Given the description of an element on the screen output the (x, y) to click on. 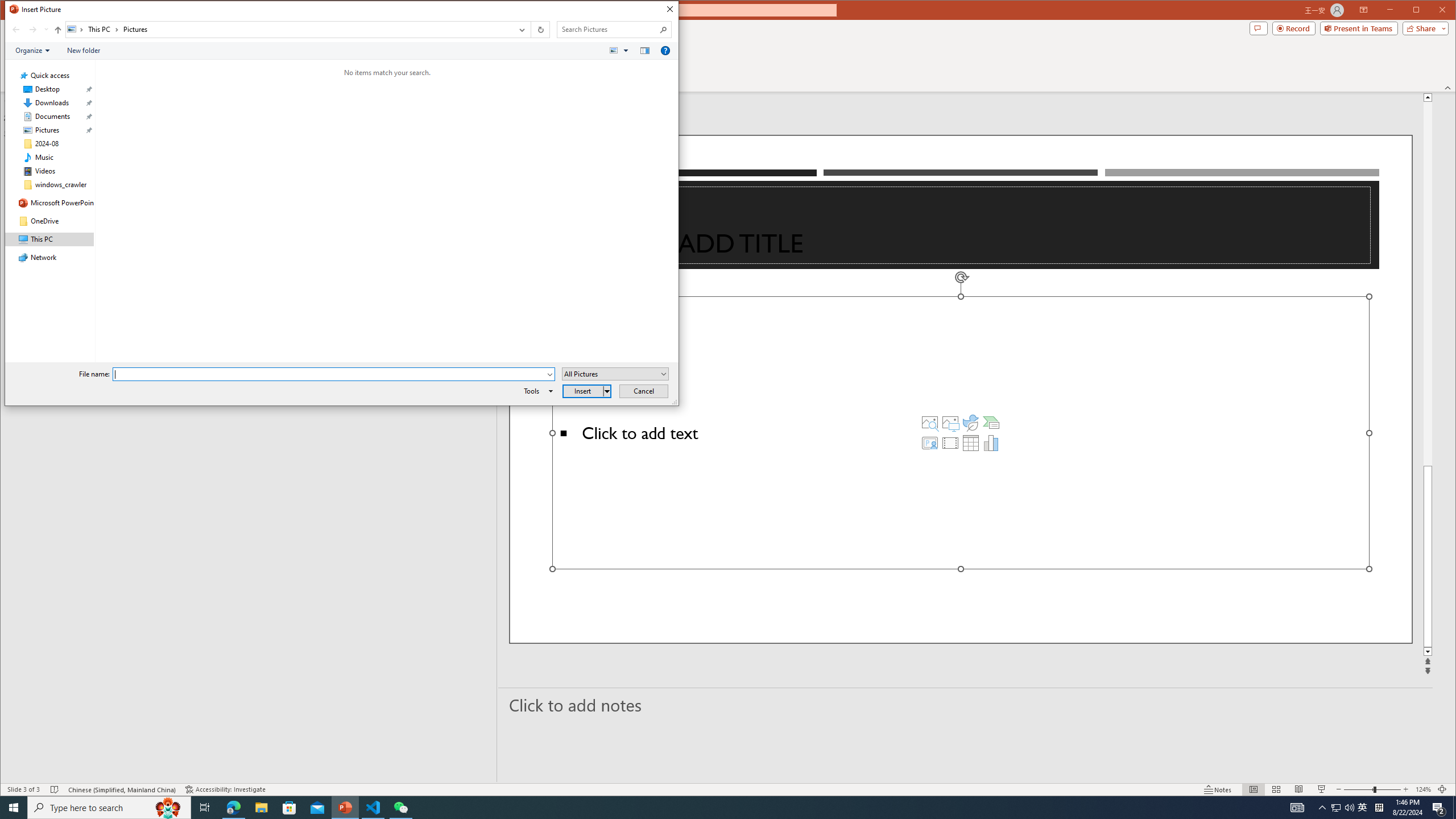
Visual Studio Code - 1 running window (373, 807)
Microsoft Store (289, 807)
Pictures (134, 29)
This PC (102, 29)
Line down (1362, 807)
Search highlights icon opens search home window (1427, 651)
Maximize (167, 807)
View Slider (1432, 11)
Tools (626, 50)
Insert Table (536, 390)
Type here to search (970, 443)
Collapse the Ribbon (108, 807)
